Given the description of an element on the screen output the (x, y) to click on. 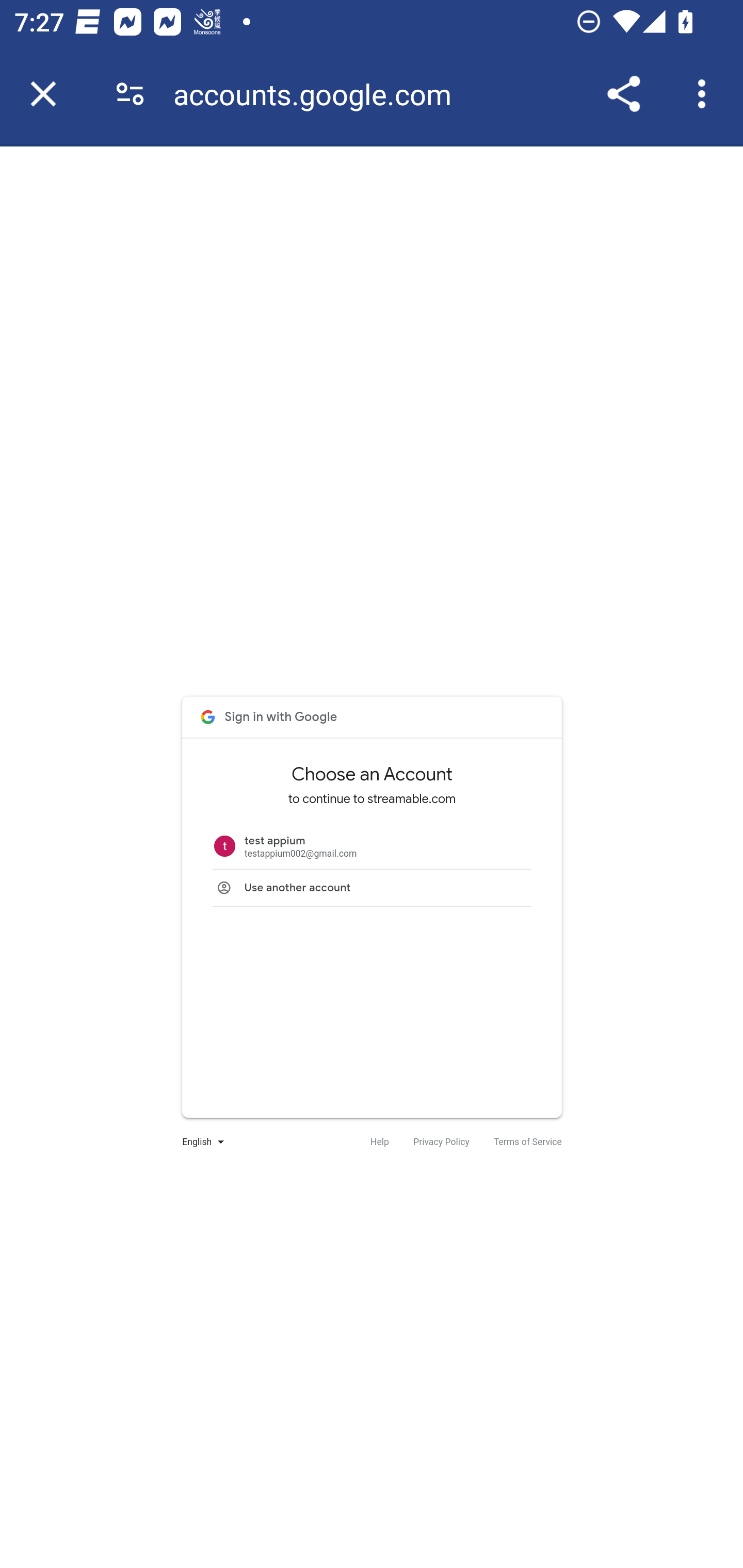
Close tab (43, 93)
Share (623, 93)
Customize and control Google Chrome (705, 93)
Connection is secure (129, 93)
accounts.google.com (319, 93)
Use another account (372, 887)
Language Chooser ‪English‬ (199, 1141)
Help (379, 1142)
Privacy Policy (441, 1142)
Terms of Service (527, 1142)
